Given the description of an element on the screen output the (x, y) to click on. 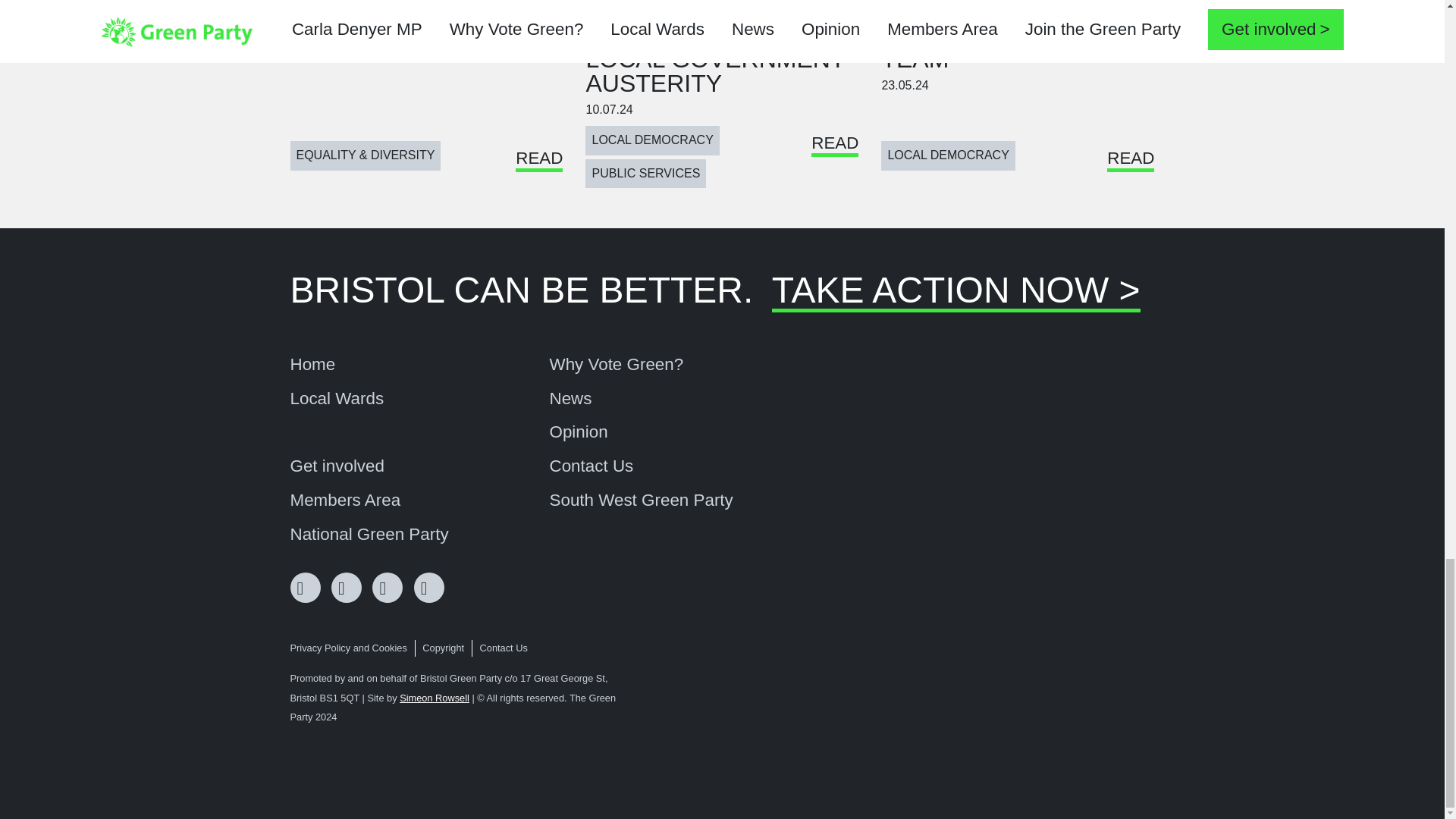
Contact Us (590, 466)
Opinion (577, 432)
News (569, 398)
Members Area (344, 500)
LOCAL DEMOCRACY (652, 140)
Local Wards (336, 398)
Green Party Logo (1097, 725)
LOCAL DEMOCRACY (947, 154)
Get involved (336, 466)
Why Vote Green? (615, 364)
